Given the description of an element on the screen output the (x, y) to click on. 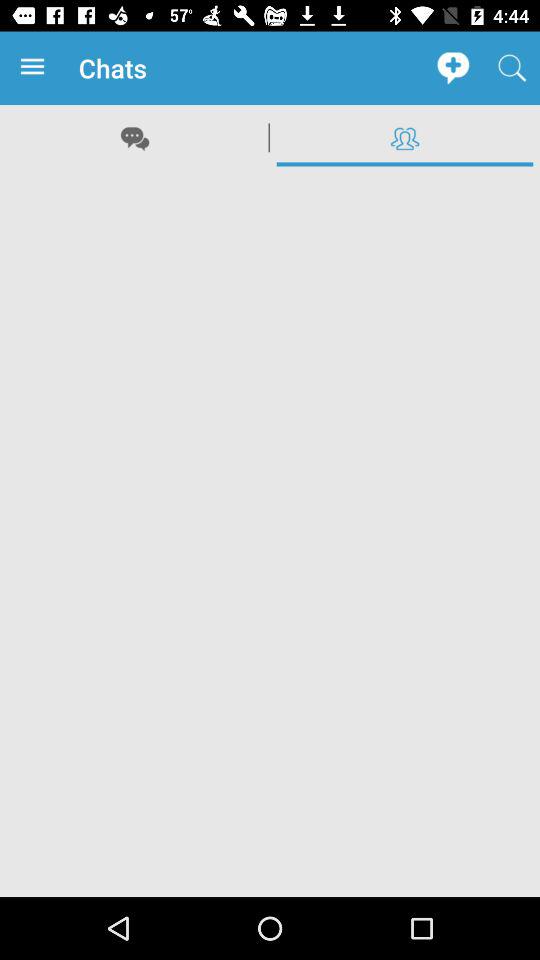
tap the app next to chats item (452, 67)
